Given the description of an element on the screen output the (x, y) to click on. 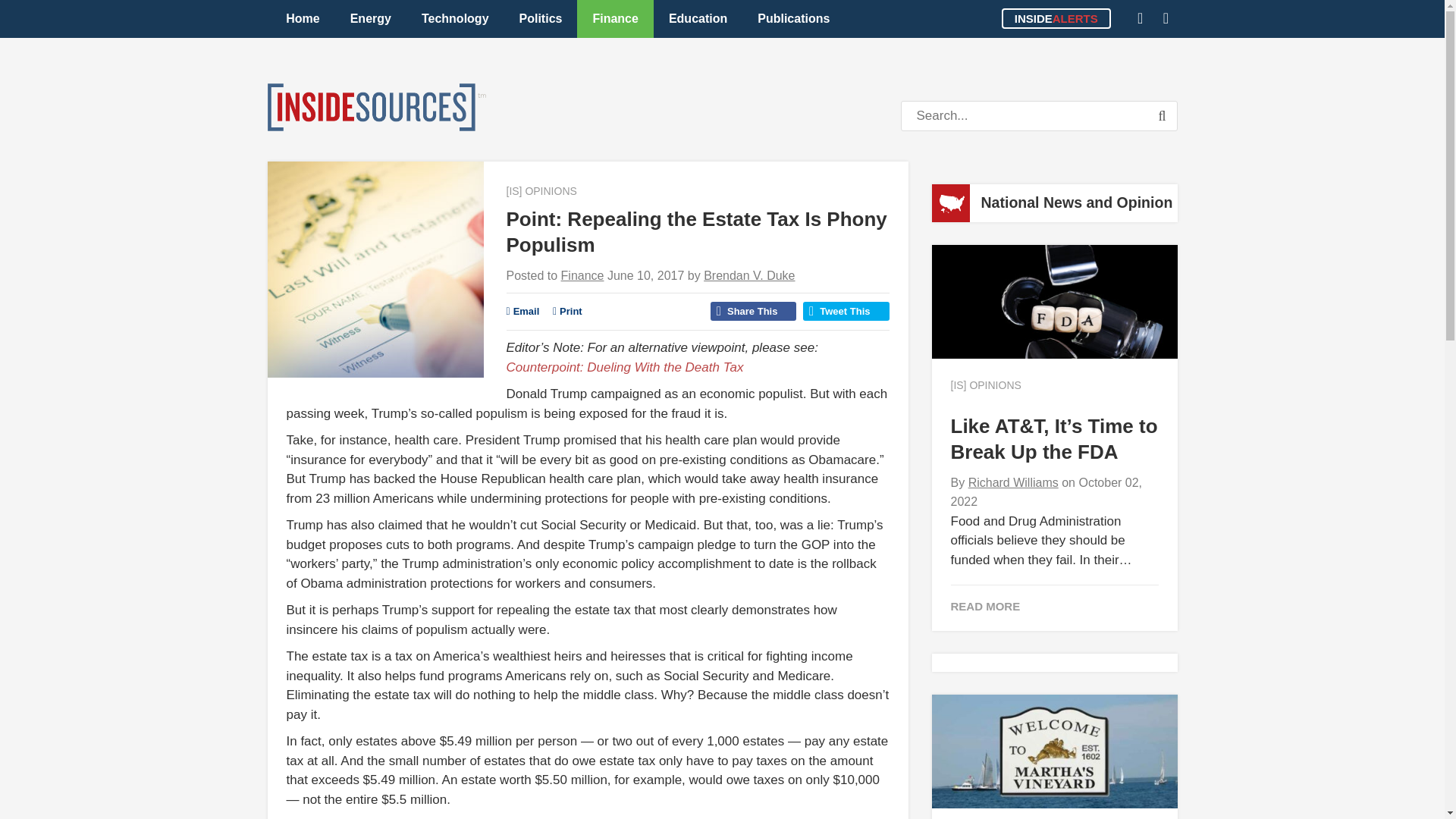
Publications (793, 18)
Posts by Richard Williams (1013, 481)
Counterpoint: Dueling With the Death Tax (625, 367)
Email (523, 310)
Finance (582, 275)
InsideSources (375, 107)
Posts by Brendan V. Duke (748, 275)
Home (302, 18)
National News and Opinion (1077, 202)
Finance (614, 18)
Richard Williams (1013, 481)
Tweet This (845, 311)
Politics (540, 18)
INSIDEALERTS (1055, 18)
Finance (582, 275)
